Given the description of an element on the screen output the (x, y) to click on. 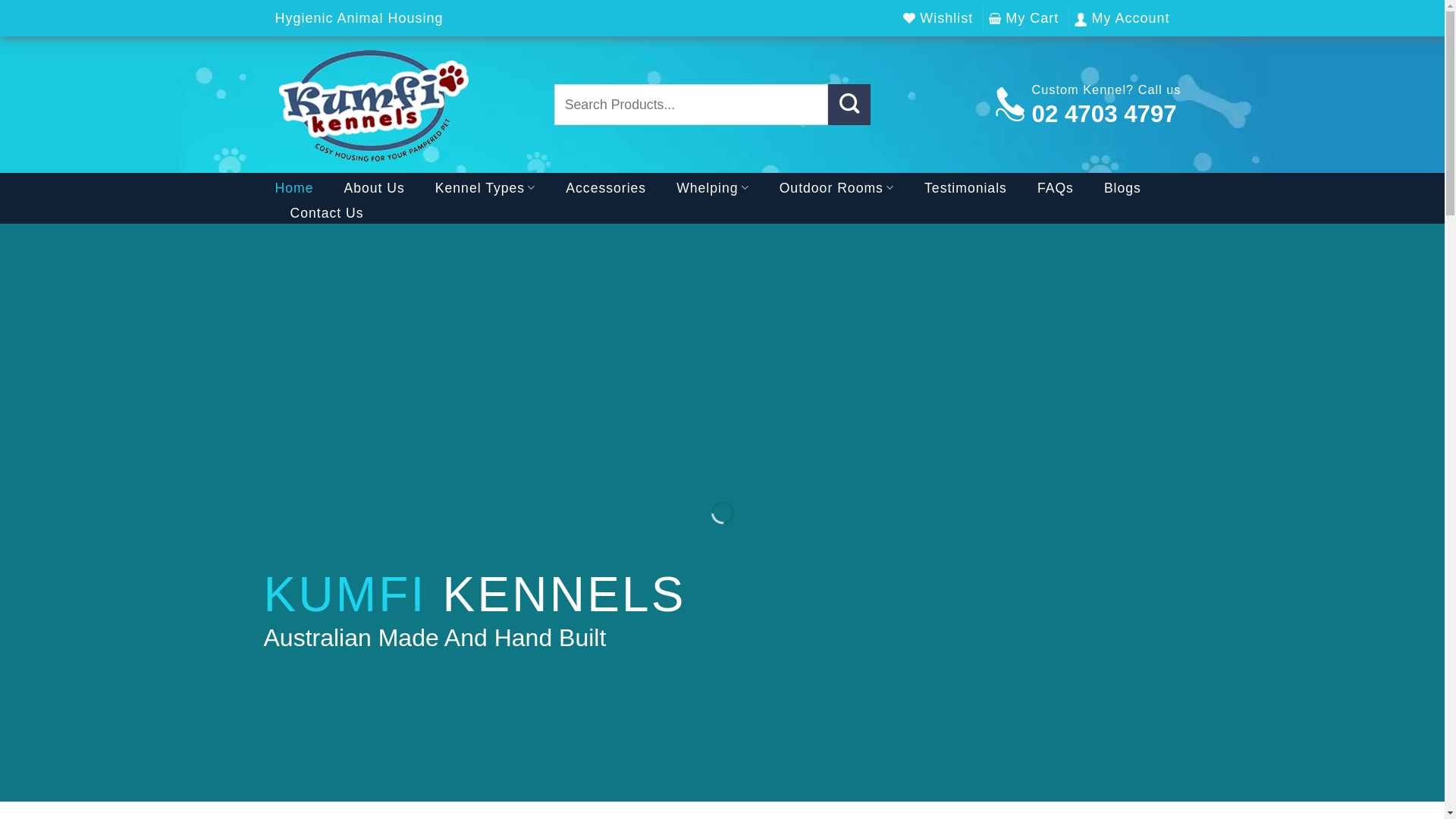
Contact Us Element type: text (326, 212)
Accessories Element type: text (605, 187)
Testimonials Element type: text (965, 187)
Home Element type: text (293, 187)
FAQs Element type: text (1055, 187)
Whelping Element type: text (712, 187)
Kennel Types Element type: text (485, 187)
Search Element type: text (849, 104)
Outdoor Rooms Element type: text (836, 187)
About Us Element type: text (373, 187)
Kumfi Kennels Element type: hover (402, 104)
Blogs Element type: text (1122, 187)
